Given the description of an element on the screen output the (x, y) to click on. 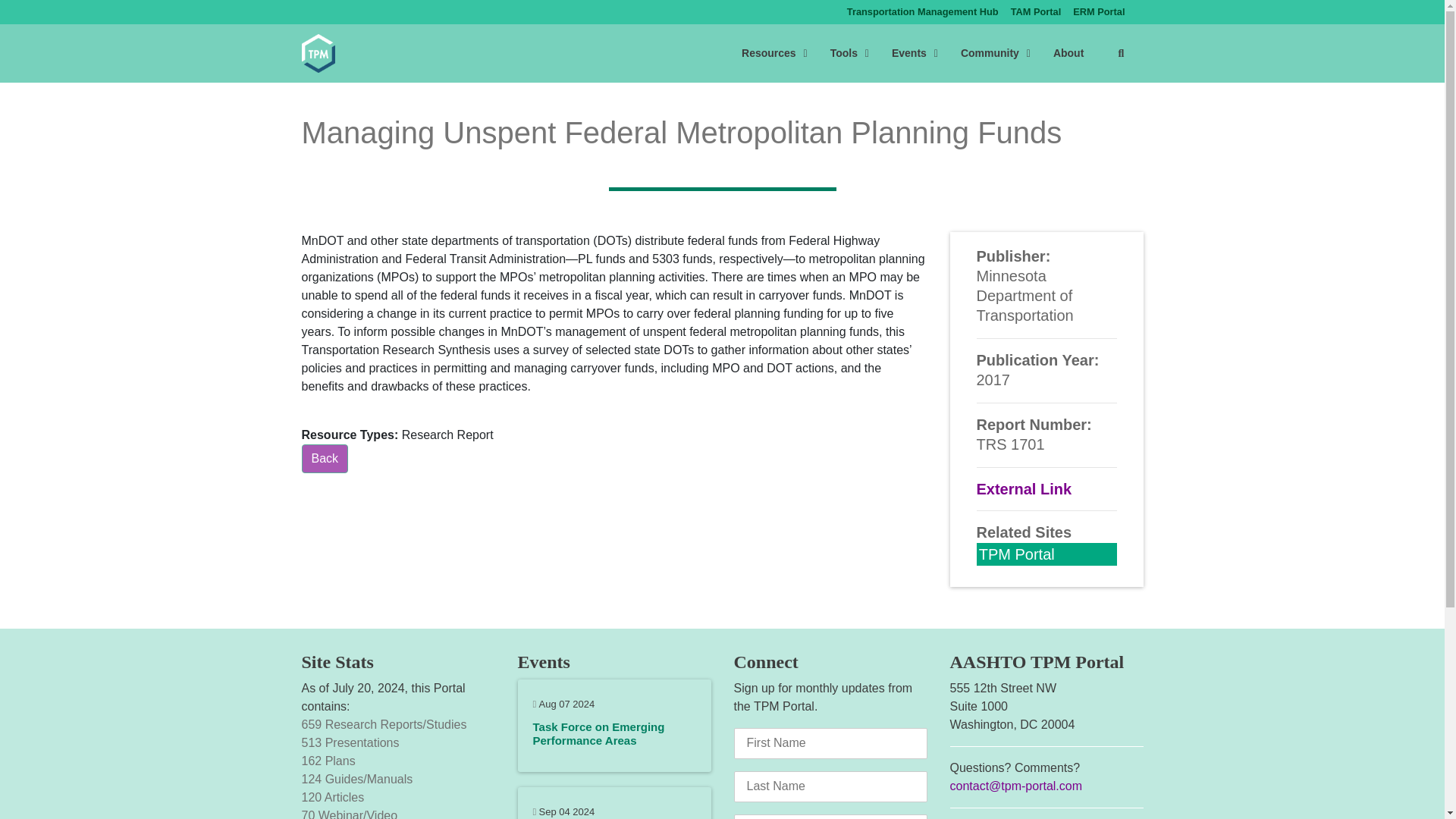
ERM Portal (1099, 12)
Transportation Management Hub (922, 12)
Transportation Management Hub (922, 12)
Search (934, 53)
ERM Portal (1119, 53)
TAM Portal (1099, 12)
Back (1035, 12)
TAM Portal (325, 458)
